Given the description of an element on the screen output the (x, y) to click on. 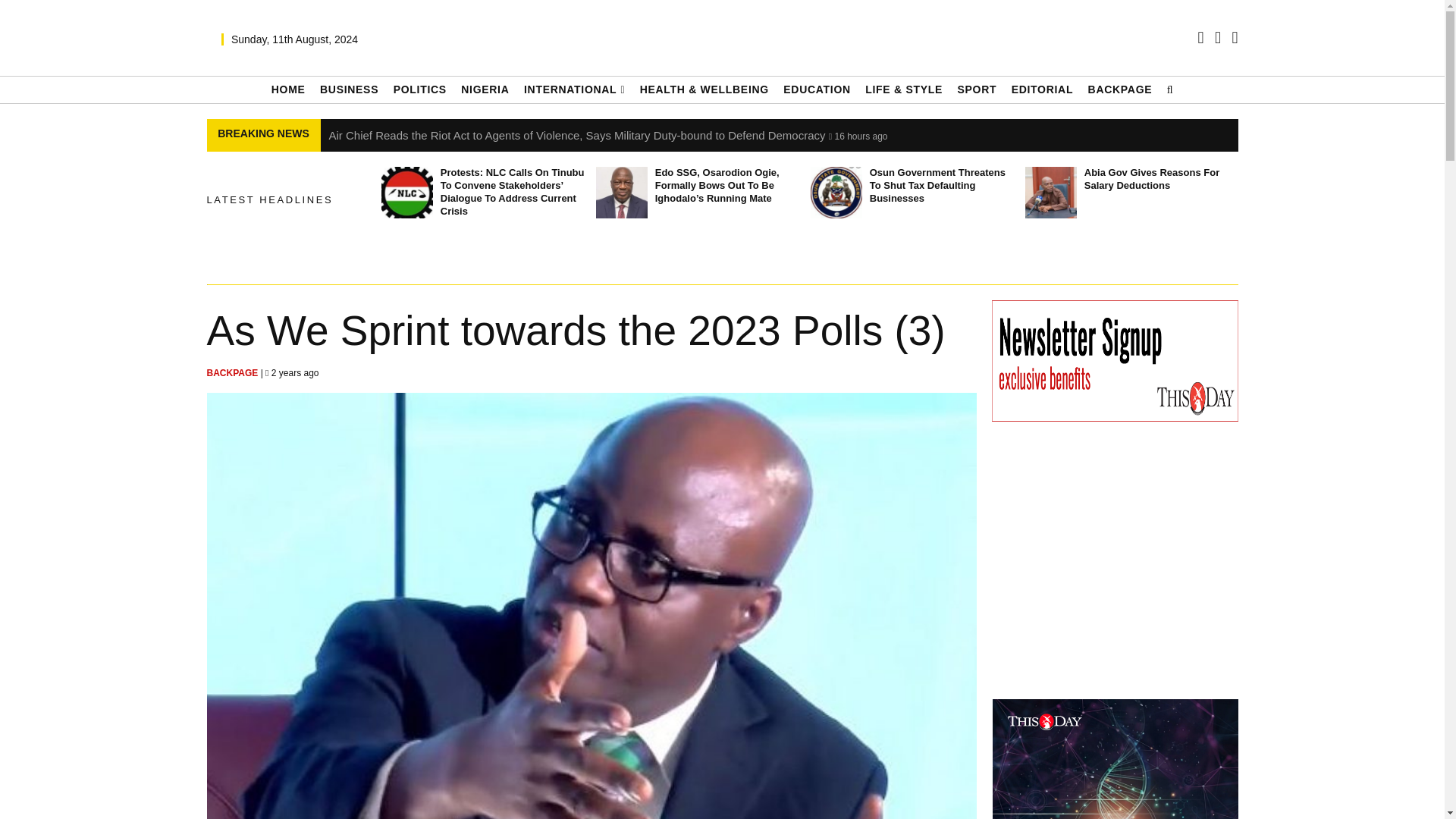
Osun Government Threatens to Shut Tax Defaulting Businesses (835, 192)
SPORT (975, 89)
POLITICS (419, 89)
INTERNATIONAL (574, 89)
BUSINESS (349, 89)
EDITORIAL (1042, 89)
Abia Gov Gives Reasons for Salary Deductions (1051, 192)
EDUCATION (816, 89)
NIGERIA (484, 89)
HOME (287, 89)
